Given the description of an element on the screen output the (x, y) to click on. 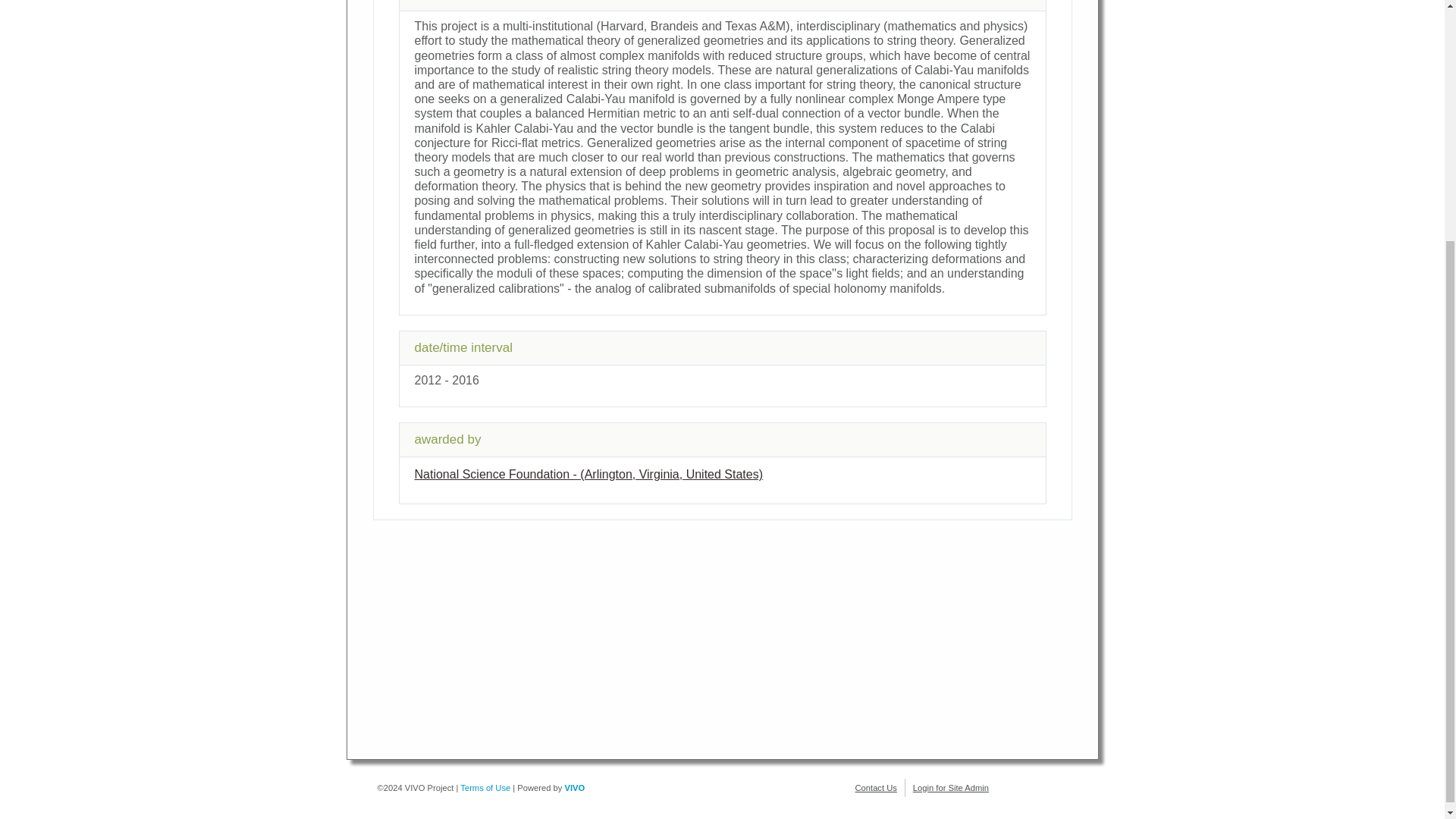
Login for Site Admin (950, 787)
Terms of Use (485, 787)
name (587, 473)
Terms of Use (485, 787)
VIVO (574, 787)
Contact Us (876, 787)
Contact Us (876, 787)
Powered by VIVO (574, 787)
